Given the description of an element on the screen output the (x, y) to click on. 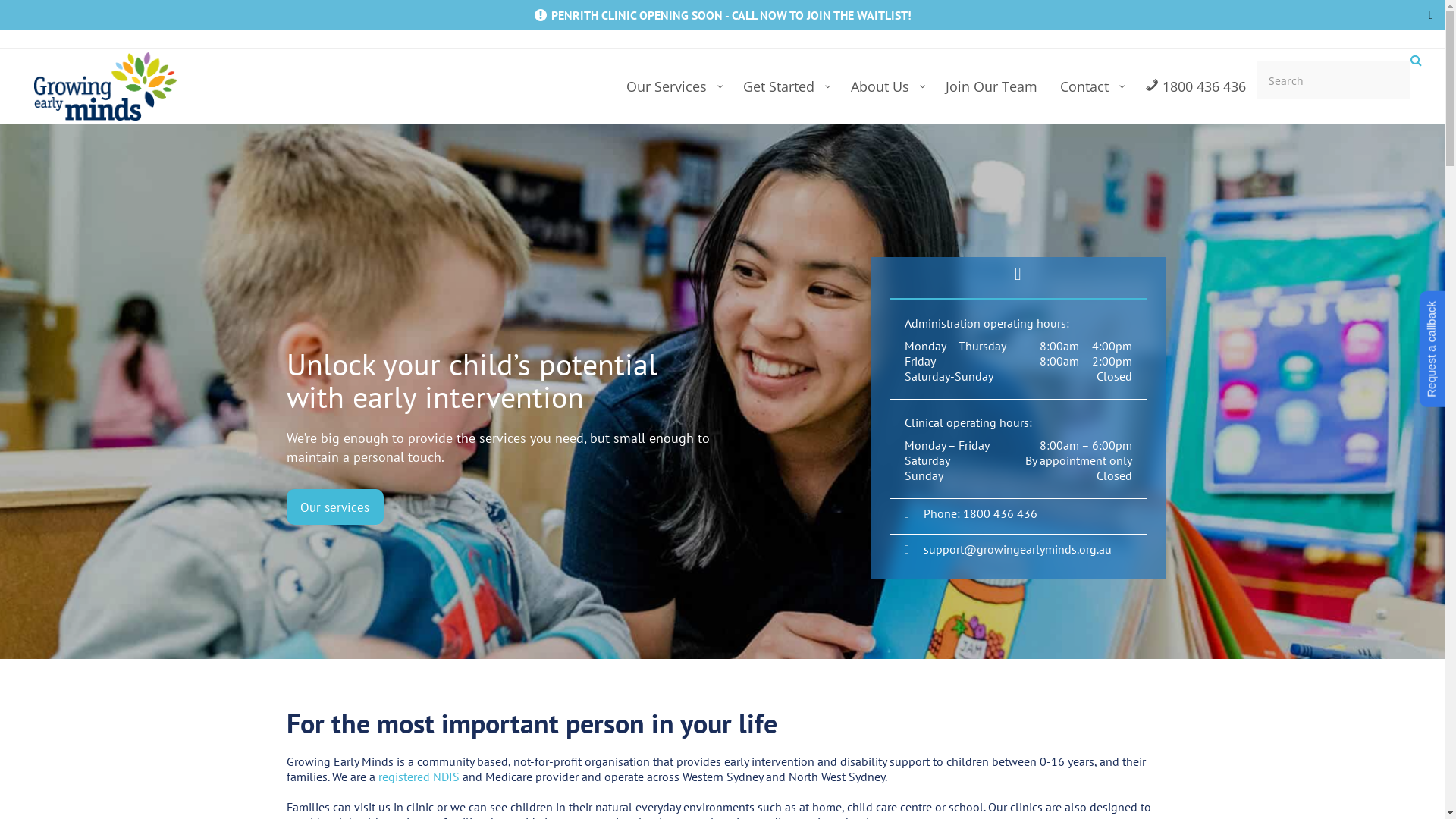
Our Services Element type: text (673, 86)
About Us Element type: text (886, 86)
LinkedIn Element type: text (1138, 23)
Instagram Element type: text (1120, 23)
PENRITH CLINIC OPENING SOON - CALL NOW TO JOIN THE WAITLIST! Element type: text (729, 14)
Our services Element type: text (334, 506)
support@growingearlyminds.org.au Element type: text (1016, 548)
Twitter Element type: text (1099, 23)
Join Our Team Element type: text (991, 86)
Contact Element type: text (1090, 86)
registered NDIS Element type: text (419, 776)
Facebook Element type: text (1081, 23)
1800 436 436 Element type: text (999, 512)
YouTube Element type: text (1159, 23)
1800 436 436 Element type: text (1195, 86)
Get Started Element type: text (785, 86)
